Given the description of an element on the screen output the (x, y) to click on. 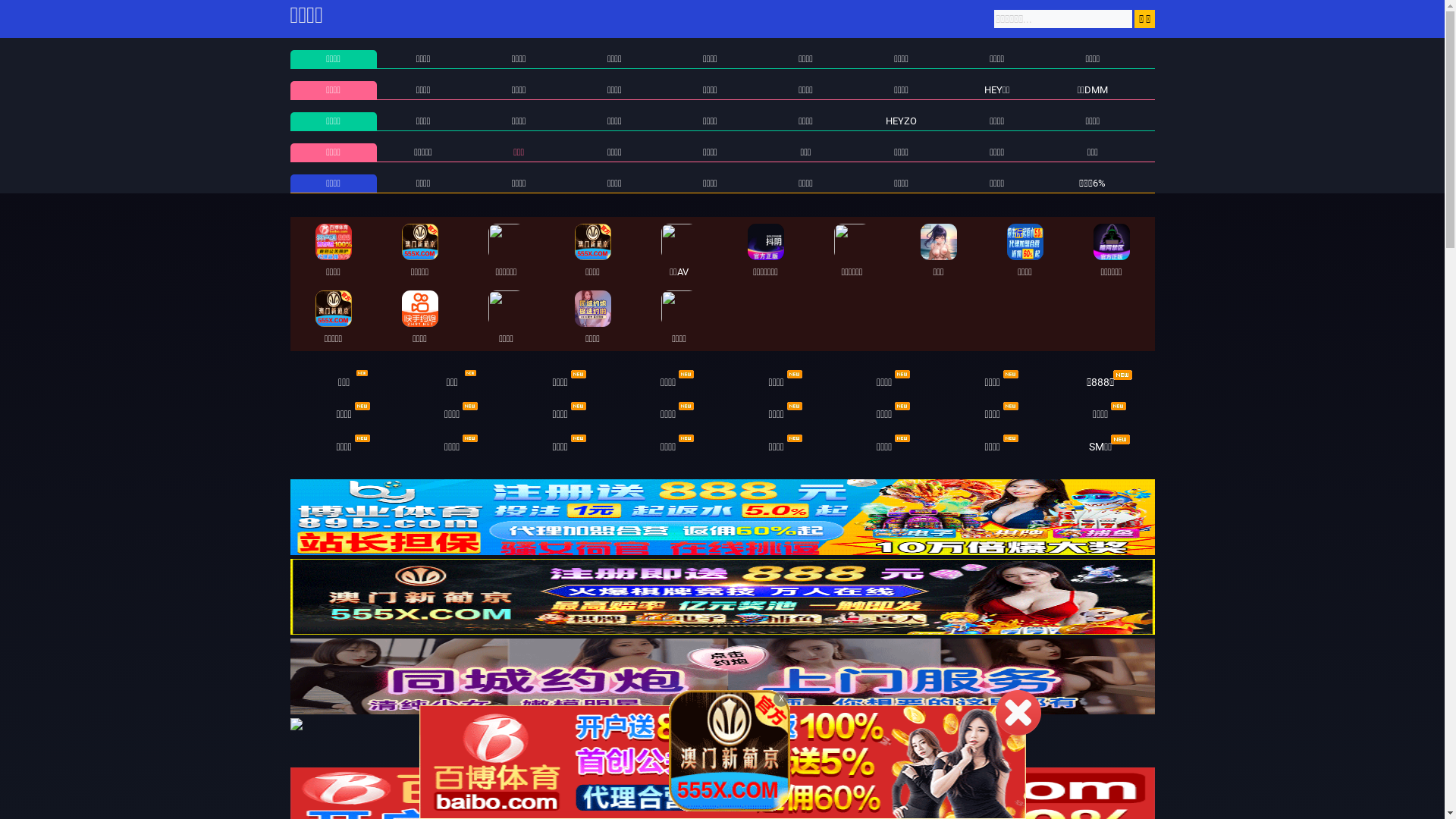
HEYZO Element type: text (900, 120)
